Given the description of an element on the screen output the (x, y) to click on. 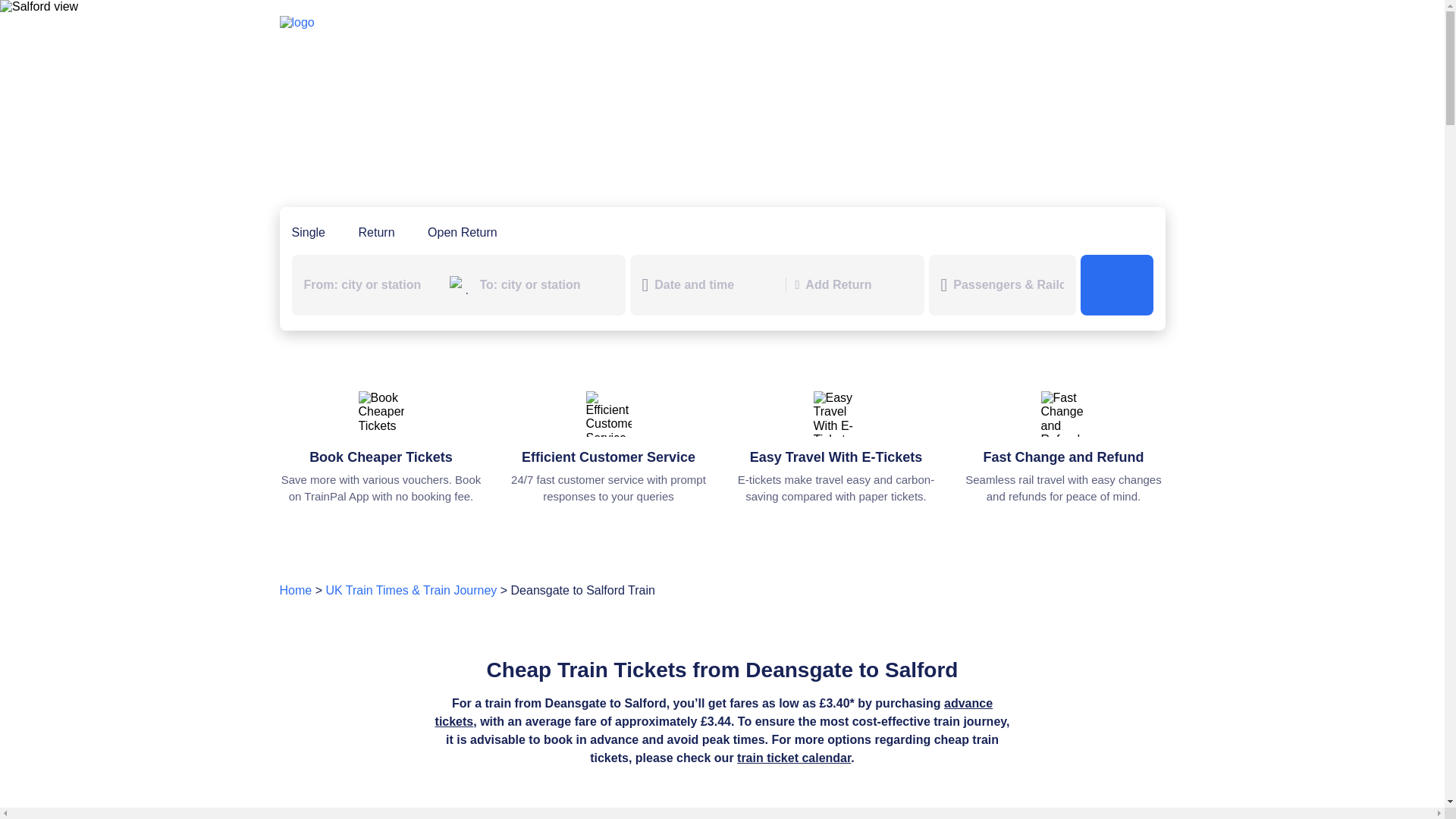
Help (818, 26)
My Bookings (900, 26)
Railcards (747, 26)
